Given the description of an element on the screen output the (x, y) to click on. 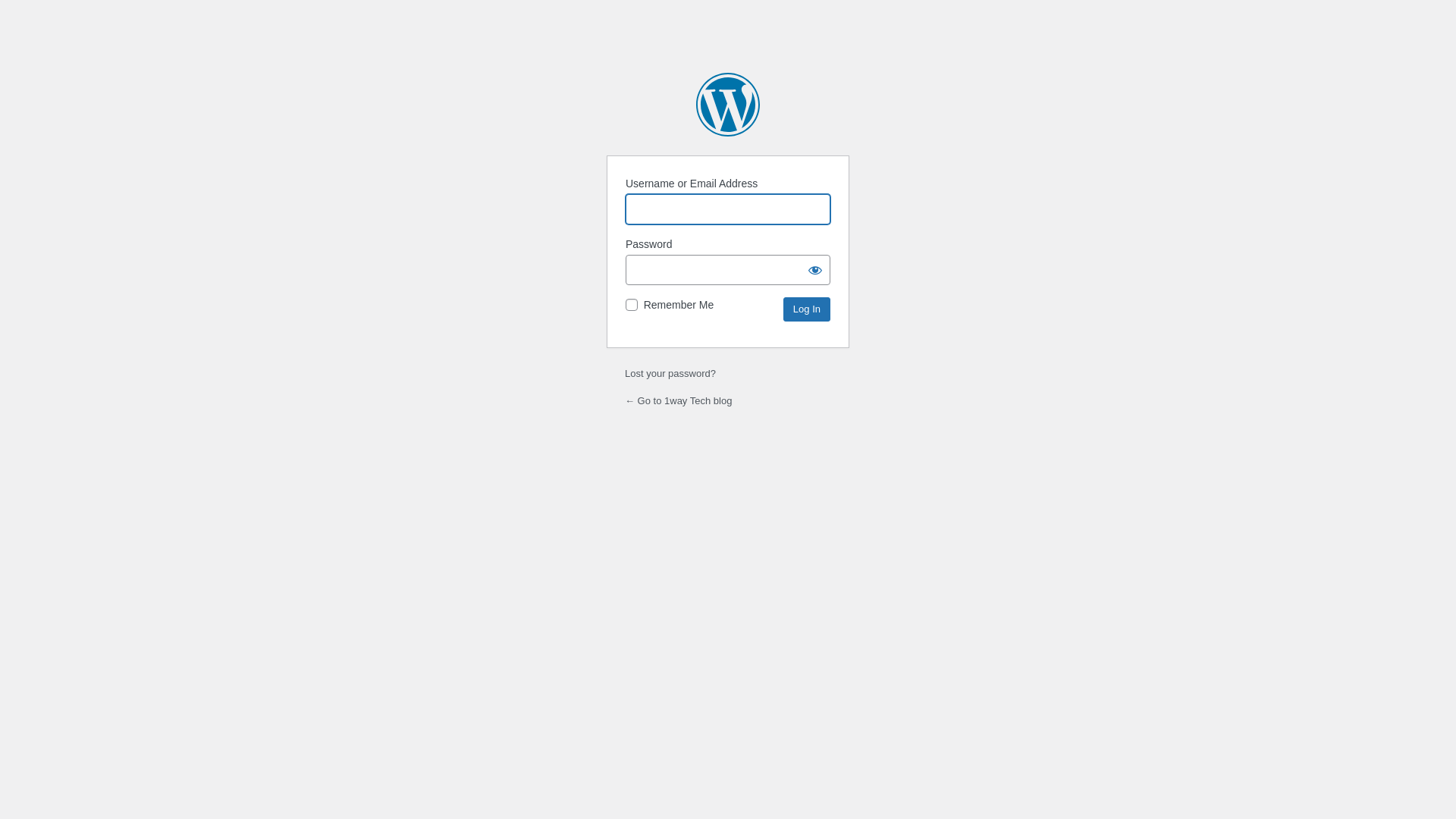
Lost your password? Element type: text (669, 373)
Powered by WordPress Element type: text (727, 104)
Log In Element type: text (806, 309)
